Given the description of an element on the screen output the (x, y) to click on. 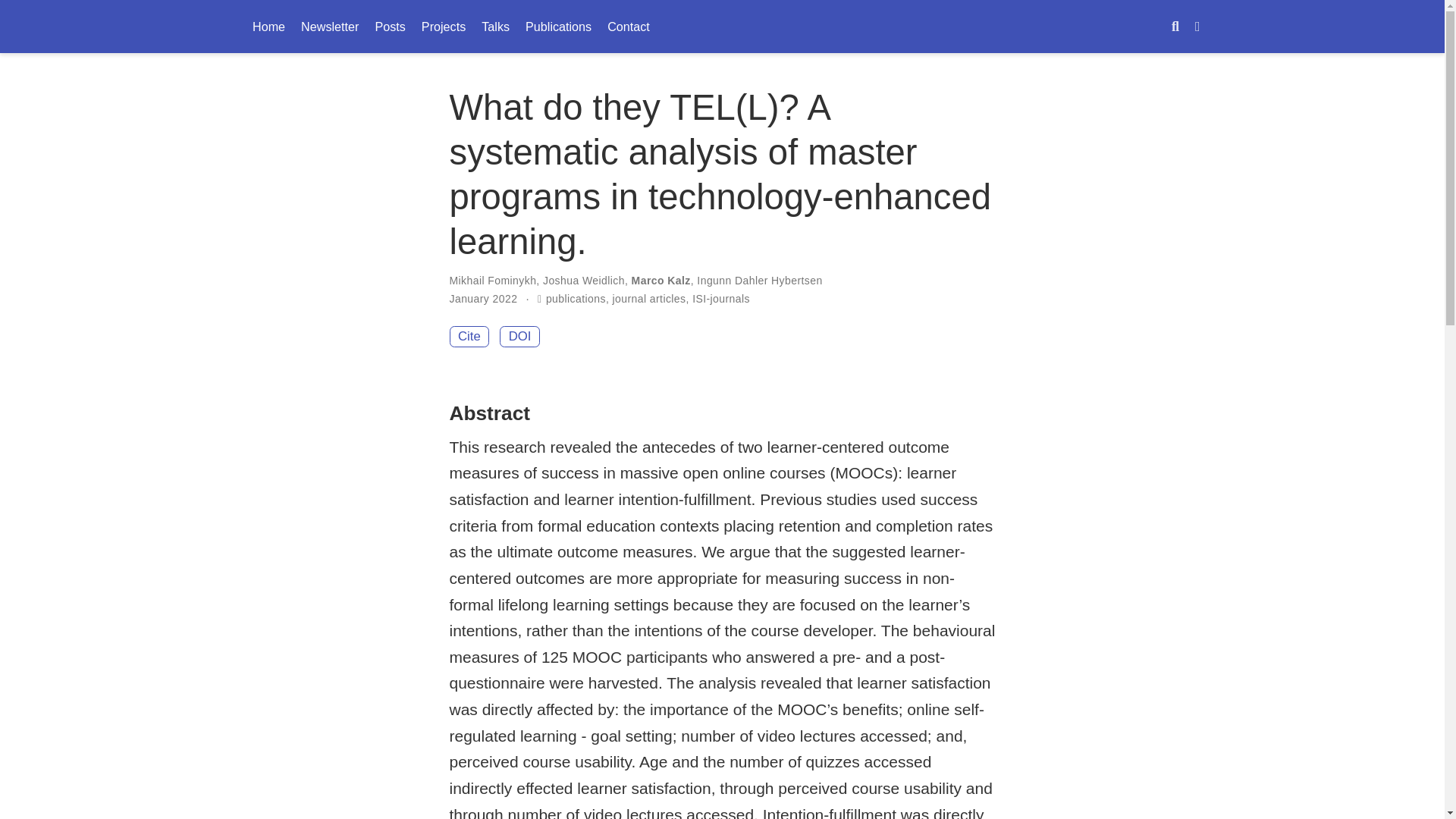
Home (268, 25)
Cite (468, 336)
Projects (443, 25)
Talks (496, 25)
Contact (628, 25)
publications (575, 298)
Newsletter (330, 25)
DOI (519, 336)
ISI-journals (721, 298)
journal articles (648, 298)
